Given the description of an element on the screen output the (x, y) to click on. 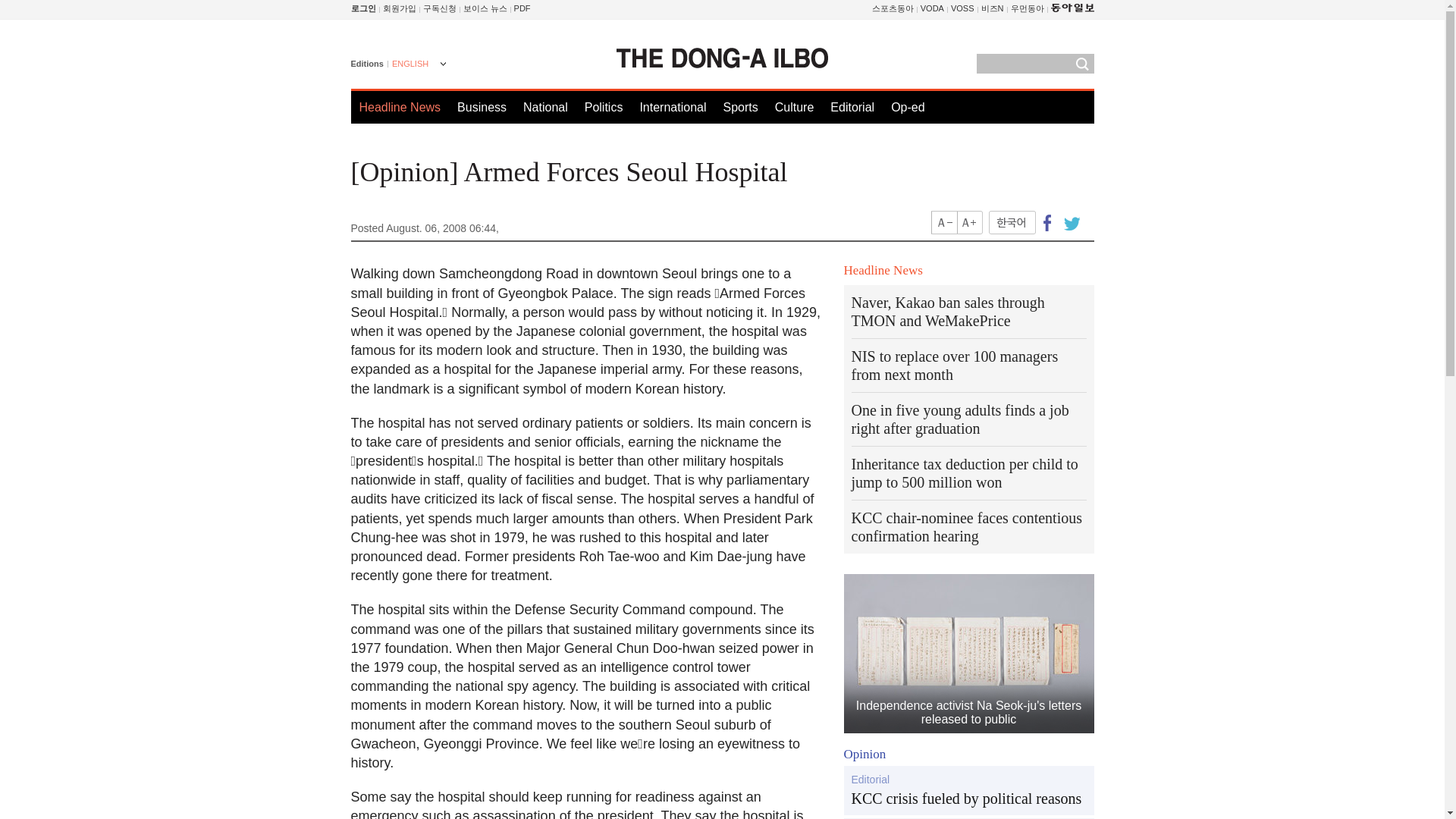
ENGLISH (416, 65)
Share this article on Twitter (1069, 222)
Editorial (852, 106)
Share this article on Facebook (1047, 222)
READERS (440, 8)
WOMAN (1026, 8)
BIZN (992, 8)
VOSS (962, 8)
VOSS (962, 8)
International (672, 106)
VOICE (484, 8)
Culture (793, 106)
Politics (604, 106)
PDF (522, 8)
National (544, 106)
